Given the description of an element on the screen output the (x, y) to click on. 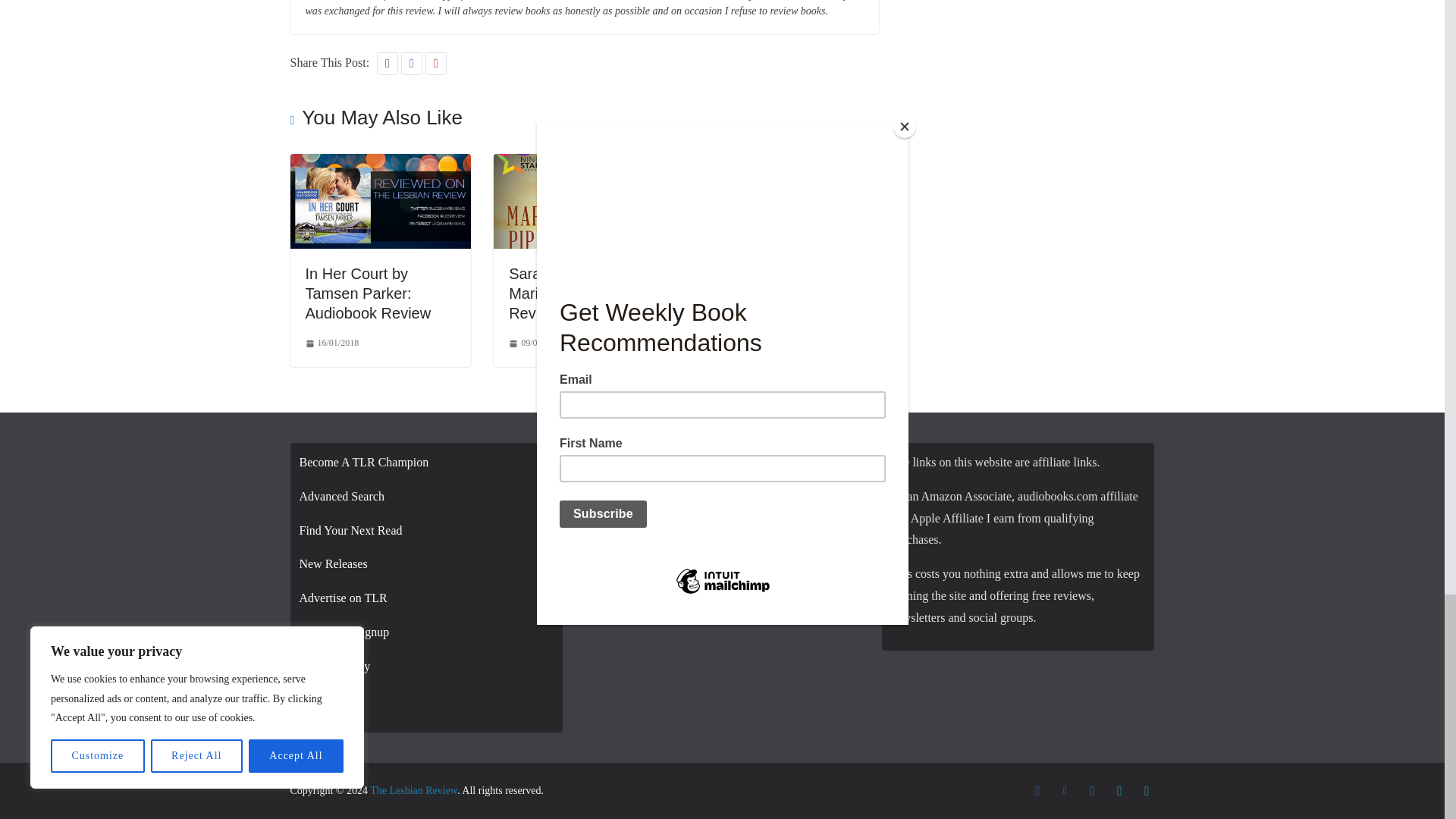
12:00 am (535, 343)
Sarah and Jude by Marie Piper: Book Review (572, 293)
Sarah and Jude by Marie Piper: Book Review (584, 164)
In Her Court by Tamsen Parker: Audiobook Review (367, 293)
In Her Court by Tamsen Parker: Audiobook Review (379, 164)
12:00 am (331, 343)
Spherical Knives by Ash Gray: Book Review (788, 164)
